Given the description of an element on the screen output the (x, y) to click on. 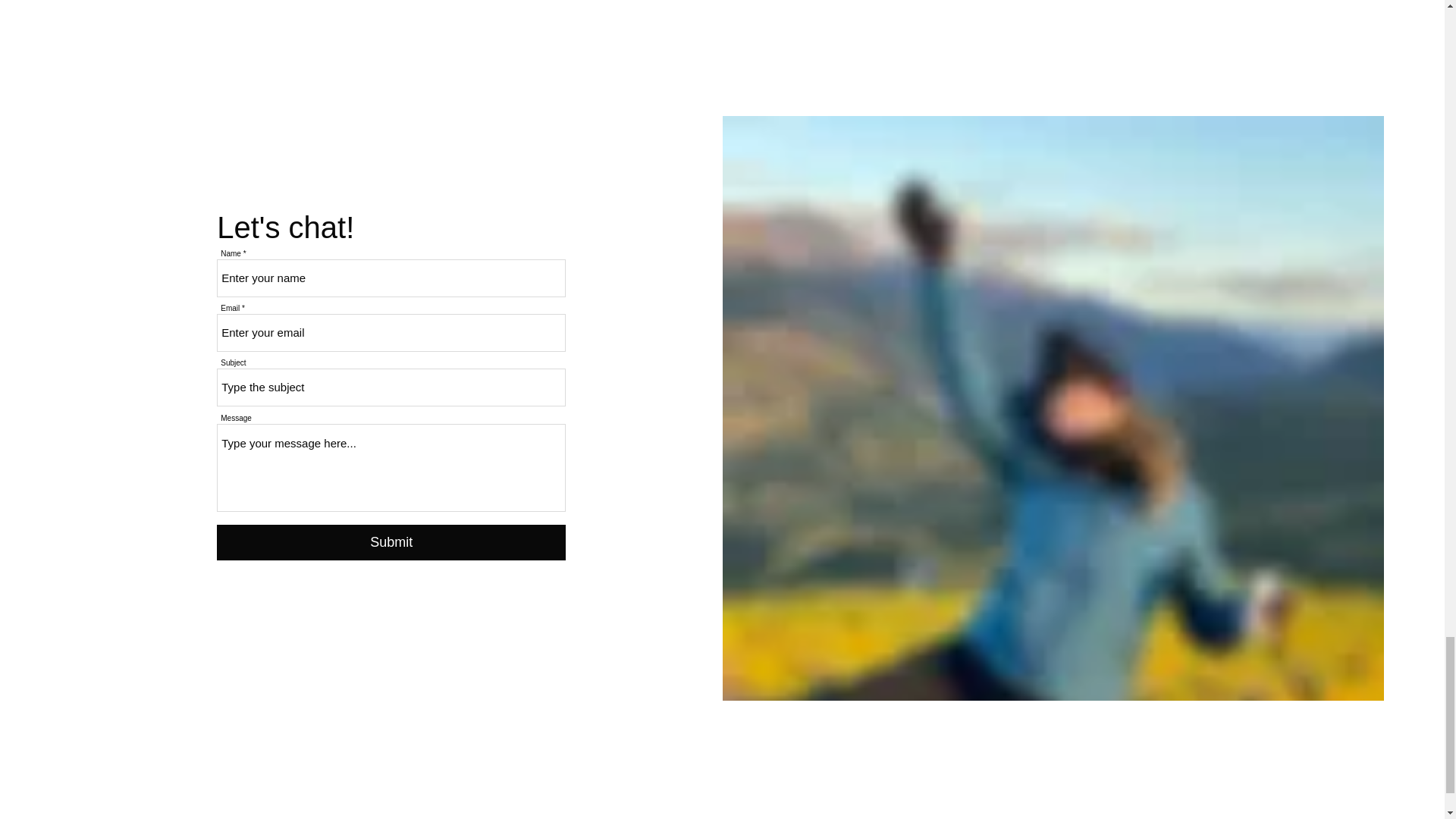
Instagram Feed (721, 12)
Submit (391, 542)
